Given the description of an element on the screen output the (x, y) to click on. 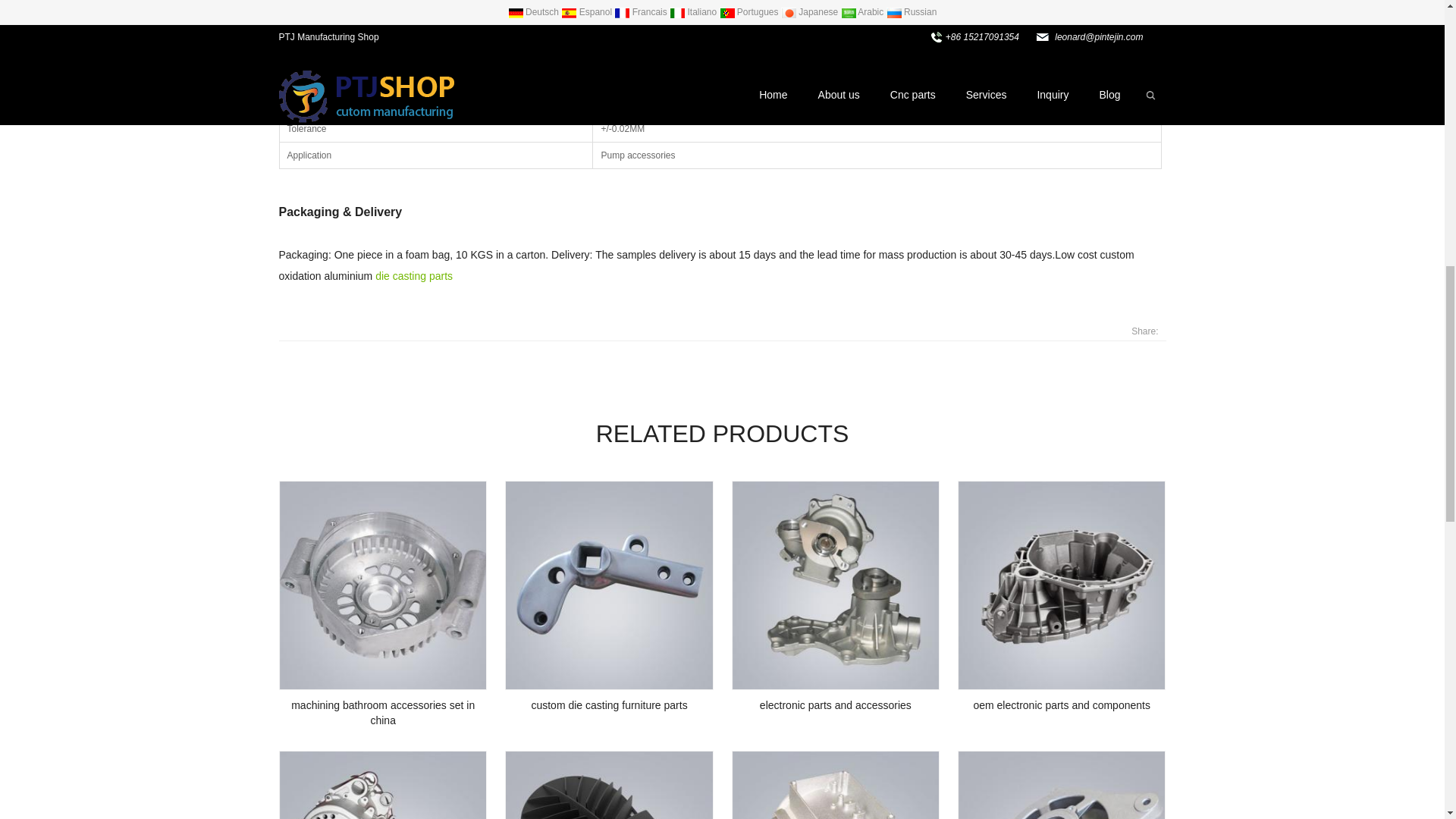
electronic parts and accessories (836, 585)
oem electronic parts and components (1062, 585)
die casting motorcycle tank cover parts near me (382, 785)
die casting motorcycle tank cover parts near me (383, 785)
custom die casting furniture parts (609, 585)
machining bathroom accessories set in china (383, 585)
